Given the description of an element on the screen output the (x, y) to click on. 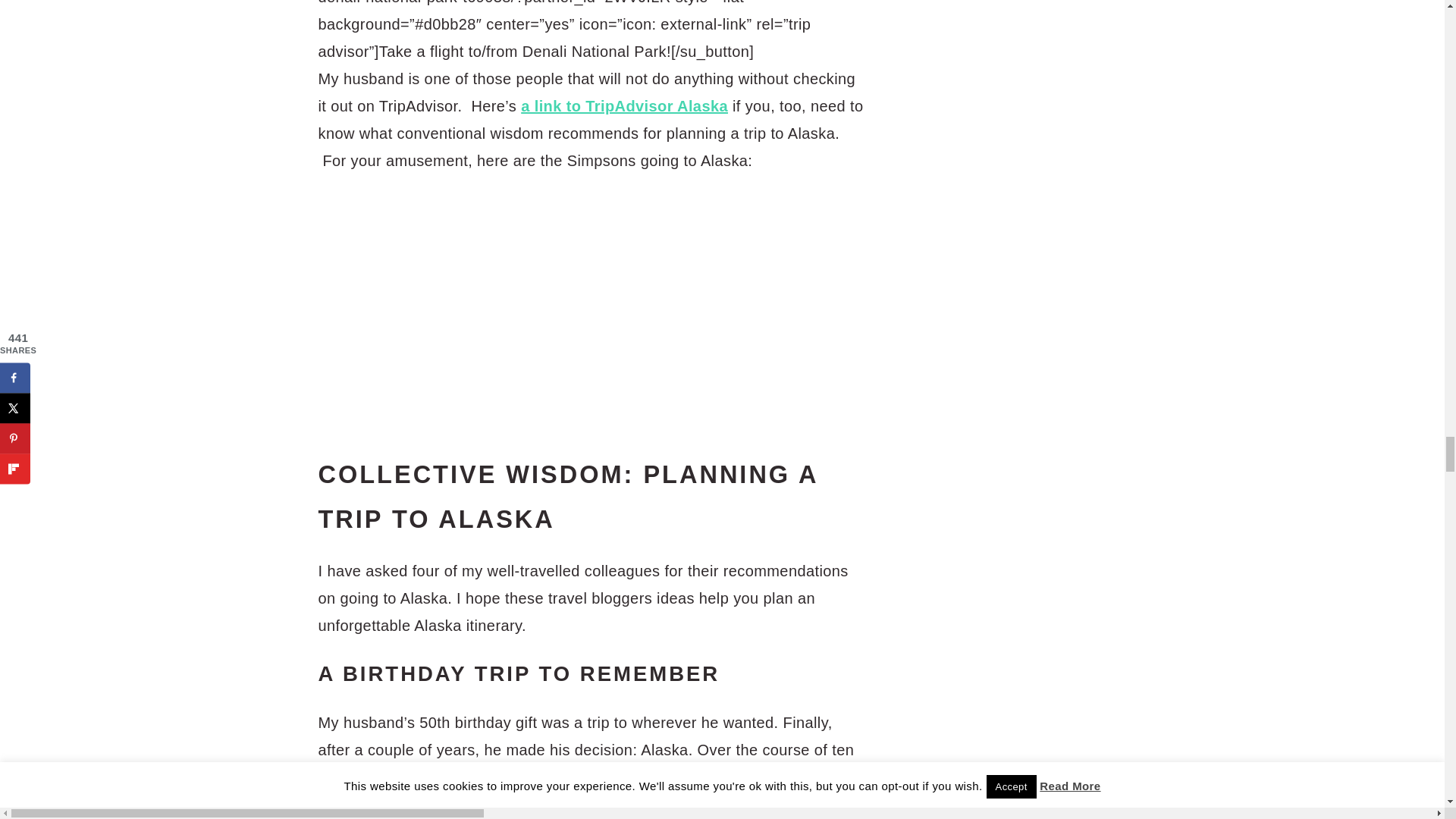
New York Times Video - Embed Player (500, 299)
